Given the description of an element on the screen output the (x, y) to click on. 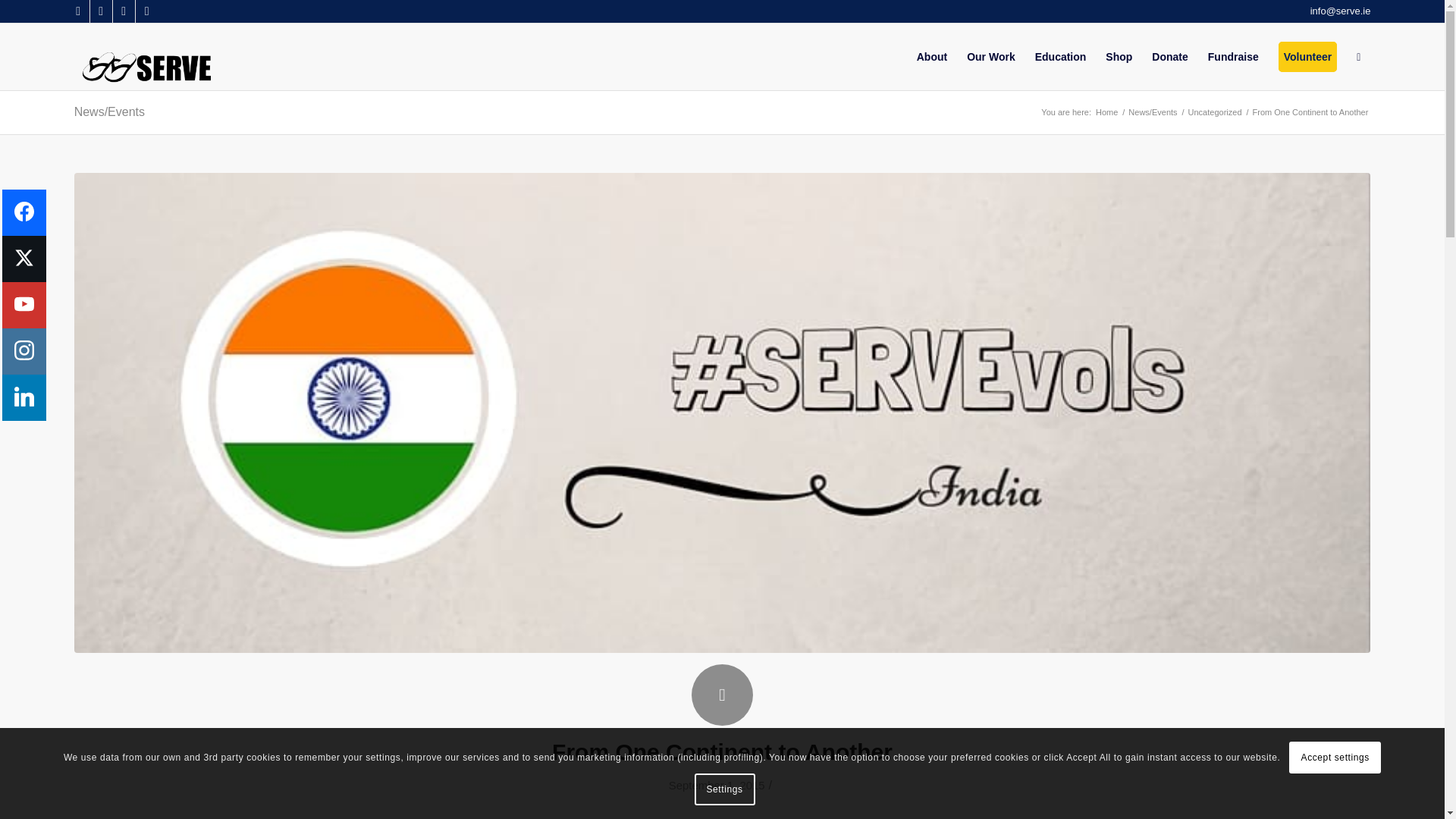
Facebook (77, 11)
SERVE (1106, 112)
Education (1060, 56)
Twitter (101, 11)
Instagram (146, 11)
Youtube (124, 11)
Our Work (990, 56)
